Given the description of an element on the screen output the (x, y) to click on. 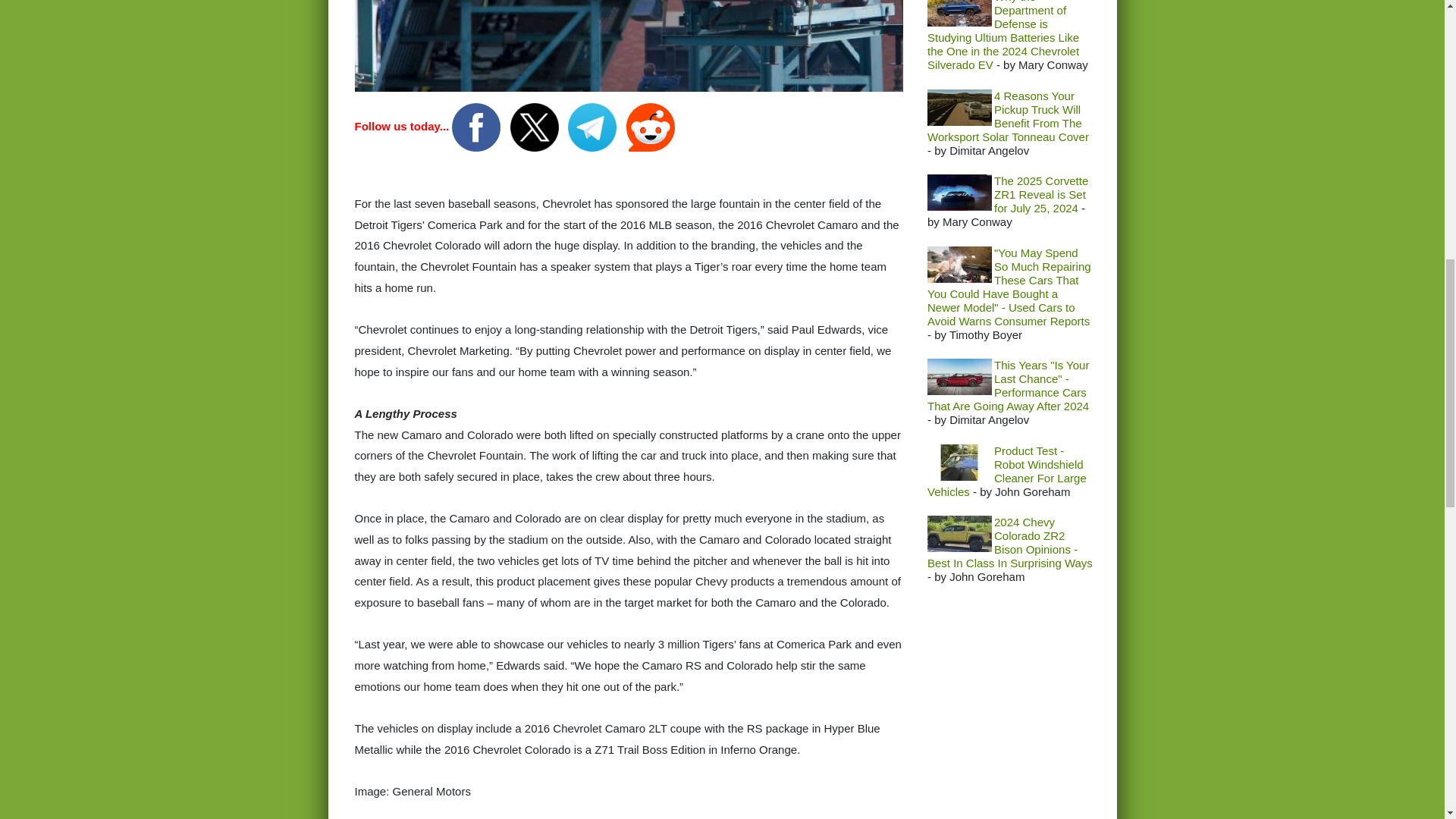
Join us on Telegram! (593, 125)
Join us on Reddit! (650, 125)
